Given the description of an element on the screen output the (x, y) to click on. 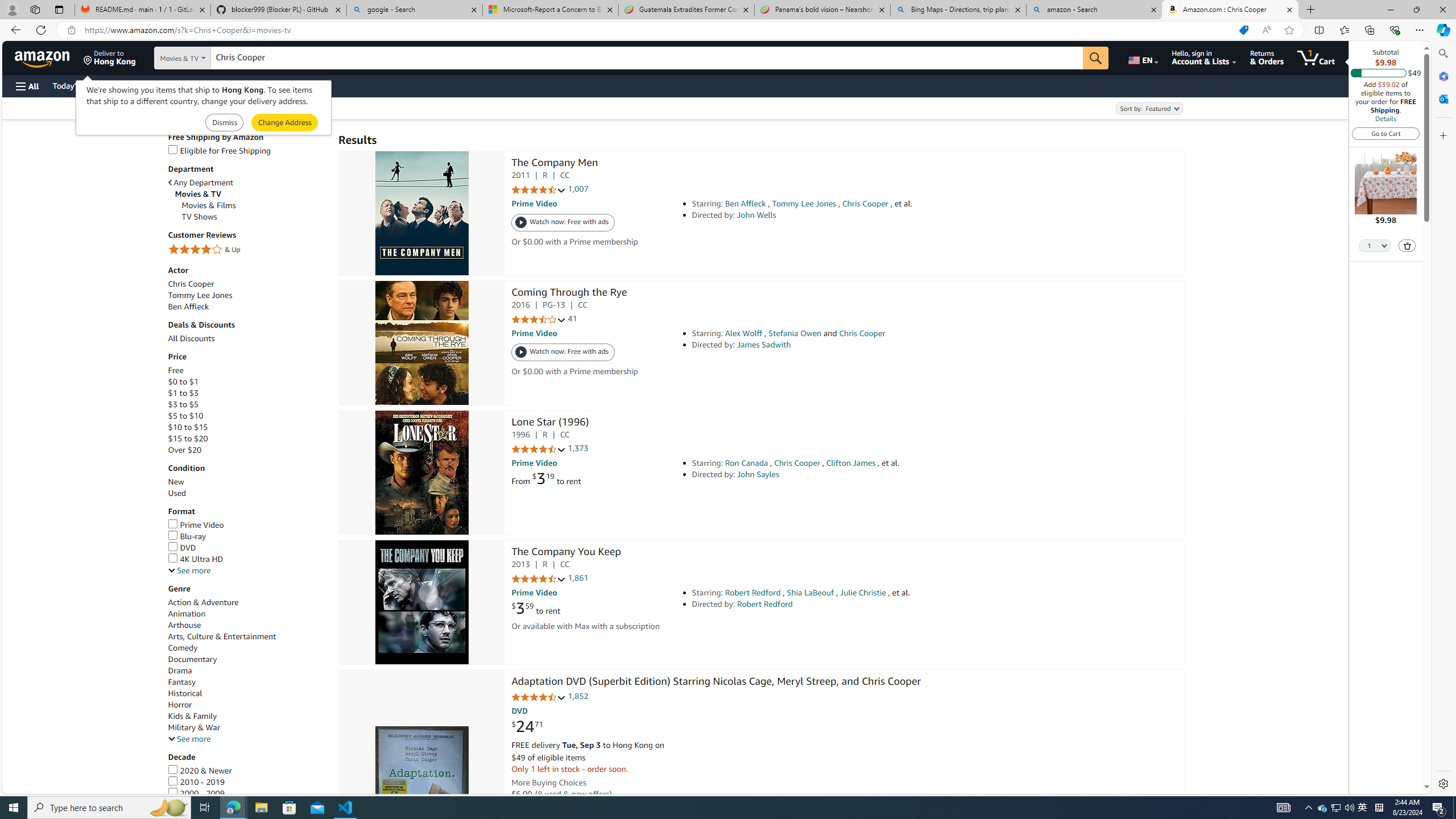
Starring: Alex Wolff , Stefania Owen and Chris Cooper (850, 333)
Directed by: James Sadwith (850, 344)
Any Department (200, 182)
$3 to $5 (183, 404)
Any Department (247, 182)
$15 to $20 (247, 438)
2020 & Newer (247, 770)
Prime Video (247, 524)
